Given the description of an element on the screen output the (x, y) to click on. 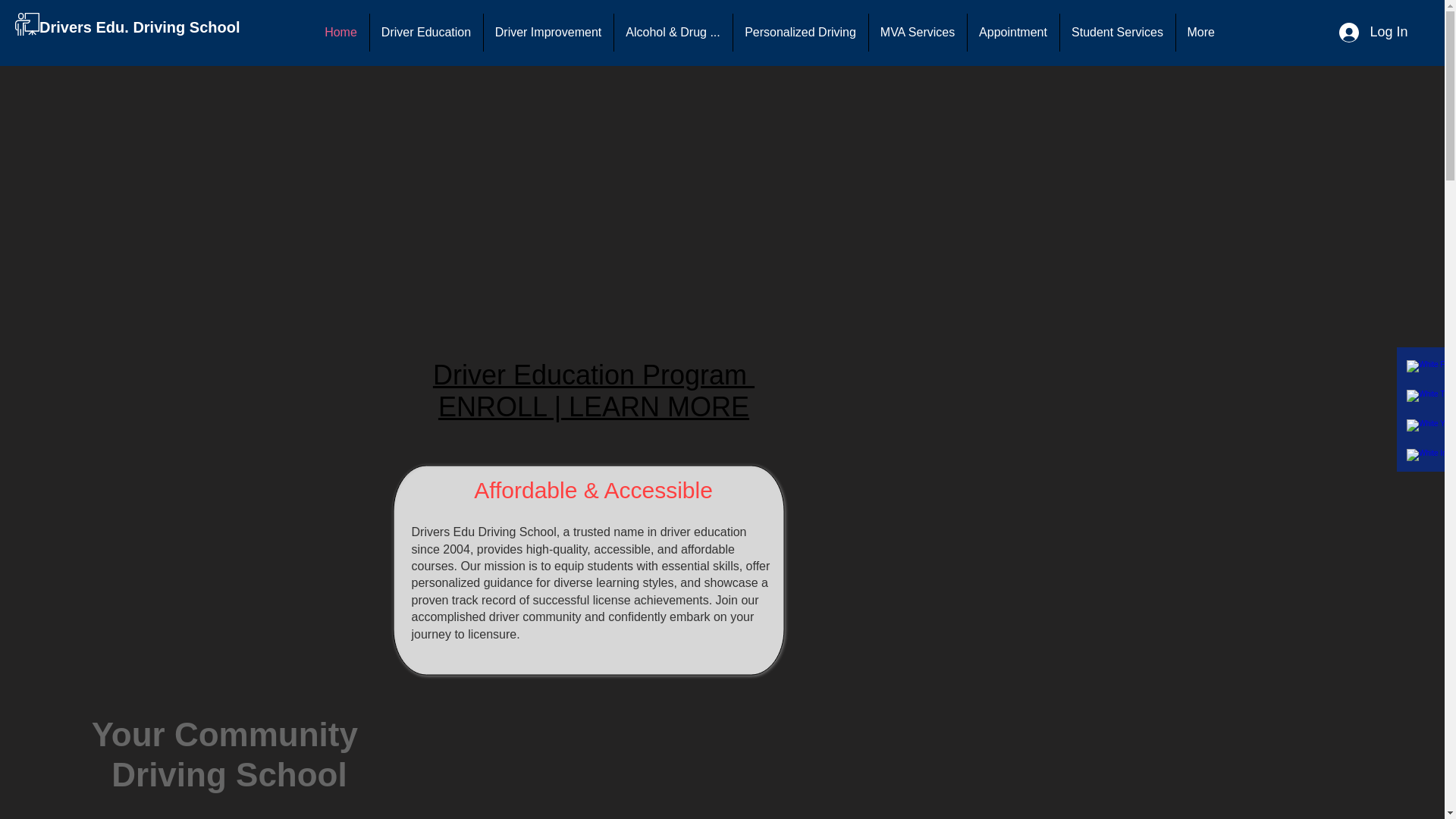
MVA Services (917, 32)
Driver Education (426, 32)
Driver Improvement (547, 32)
Home (340, 32)
Drivers Edu. Driving School (139, 26)
Appointment (1013, 32)
Log In (1372, 32)
Personalized Driving (799, 32)
